Given the description of an element on the screen output the (x, y) to click on. 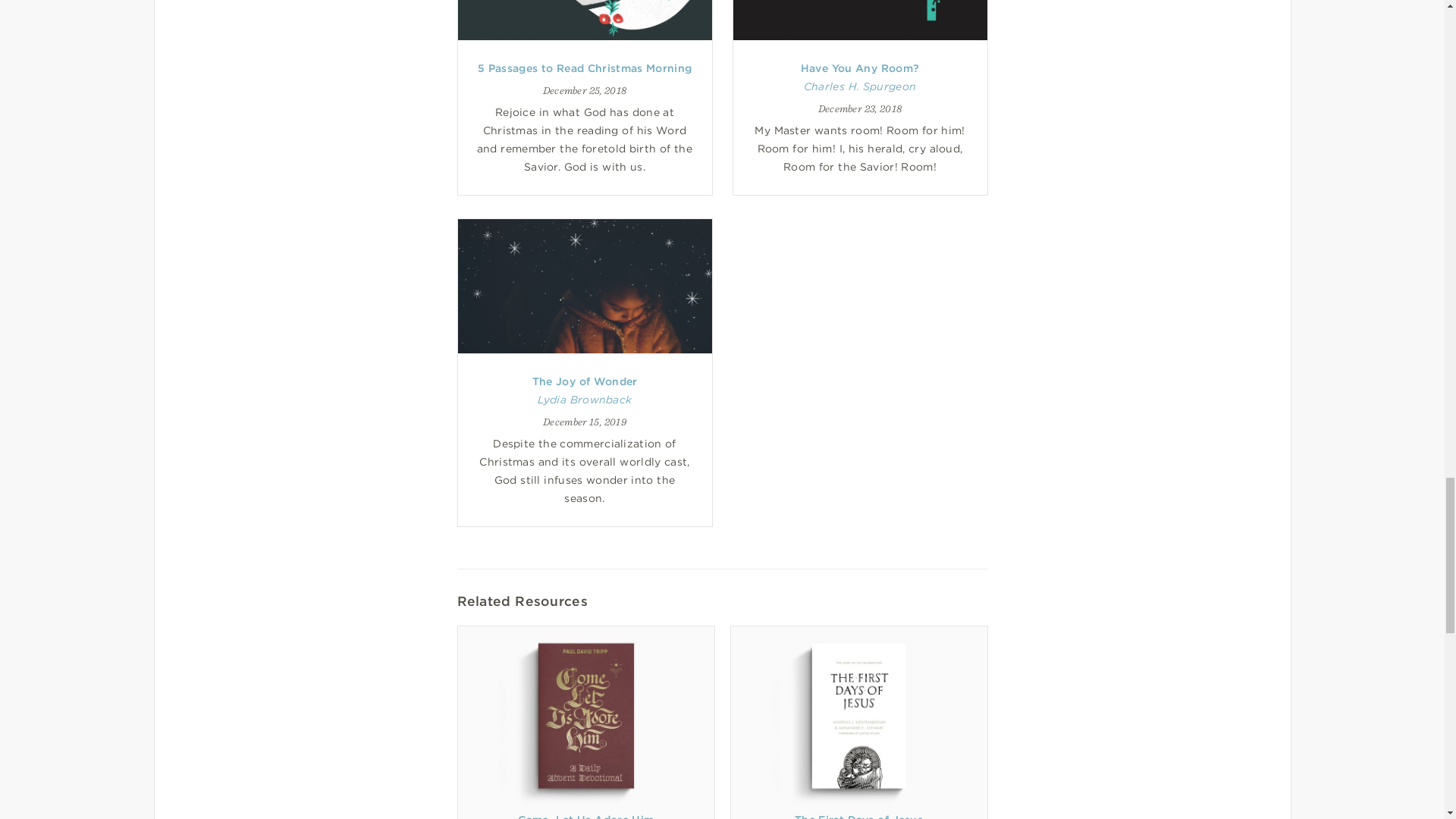
Lydia Brownback (584, 399)
Charles H. Spurgeon (859, 86)
Come, Let Us Adore Him (585, 816)
Have You Any Room? (859, 68)
The First Days of Jesus (858, 816)
The Joy of Wonder (584, 381)
5 Passages to Read Christmas Morning (584, 68)
